Given the description of an element on the screen output the (x, y) to click on. 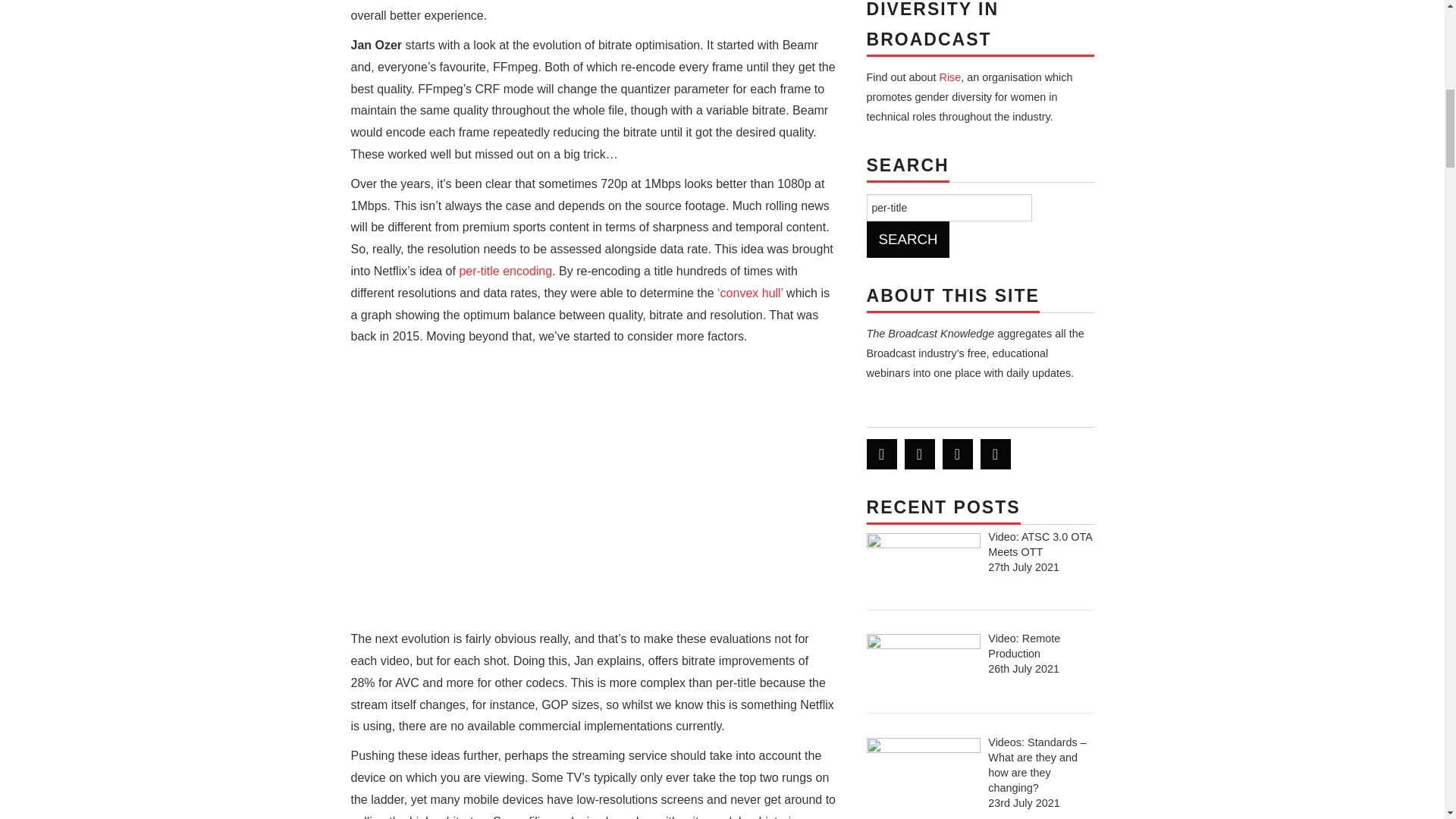
YouTube player (592, 491)
Search for: (948, 207)
Twitter (881, 453)
Search (907, 239)
per-title (948, 207)
per-title (948, 207)
per-title encoding (504, 270)
Search (907, 239)
